Given the description of an element on the screen output the (x, y) to click on. 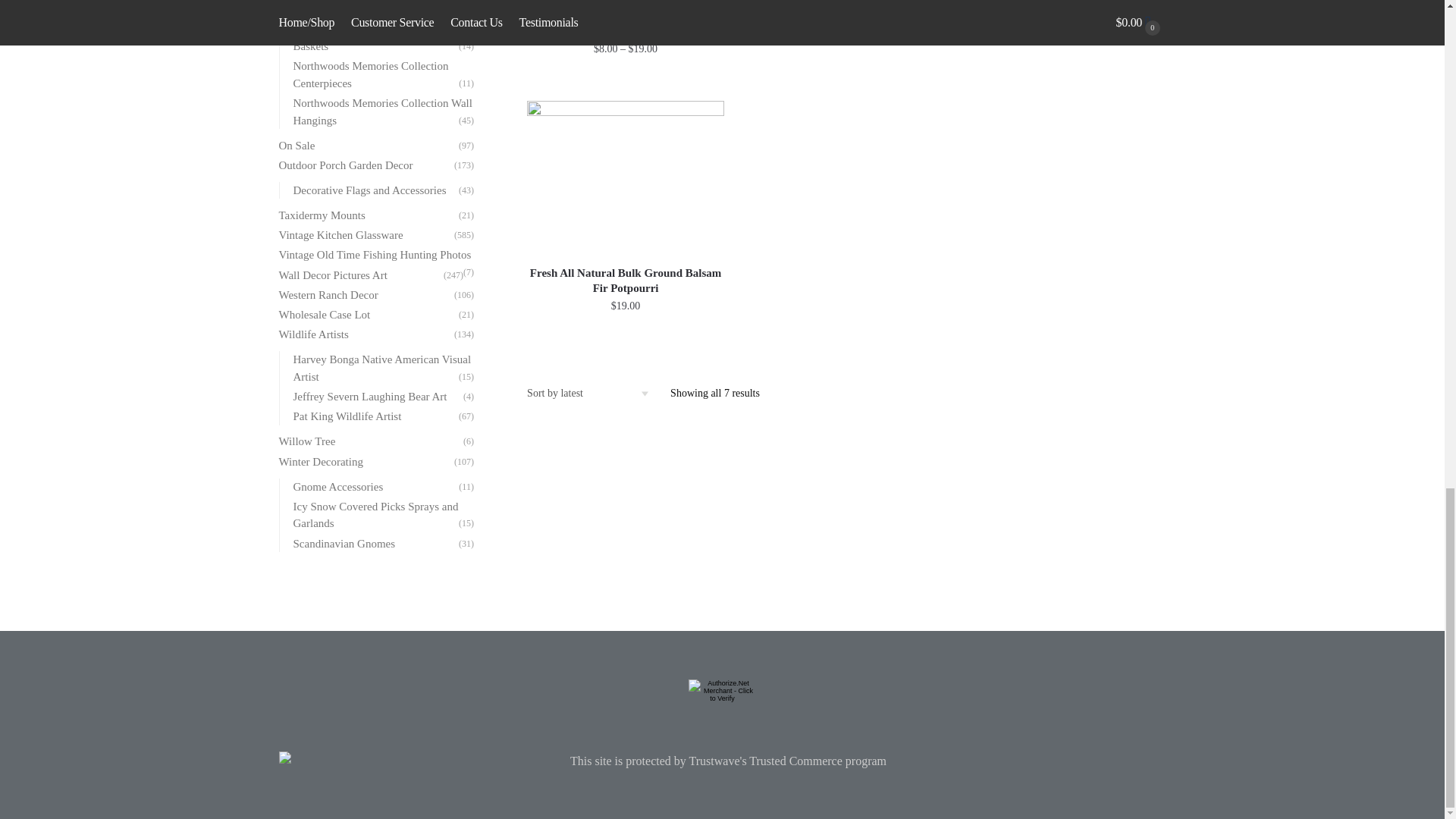
Incense Campfire Memories Balsam Fir Christmas Incense Stick (844, 11)
Fresh All Natural Bulk Ground Balsam Fir Potpourri (625, 280)
Fresh Balsam Pine Fir Cedar Home Car Fragrance Mist Maine (1064, 11)
